Given the description of an element on the screen output the (x, y) to click on. 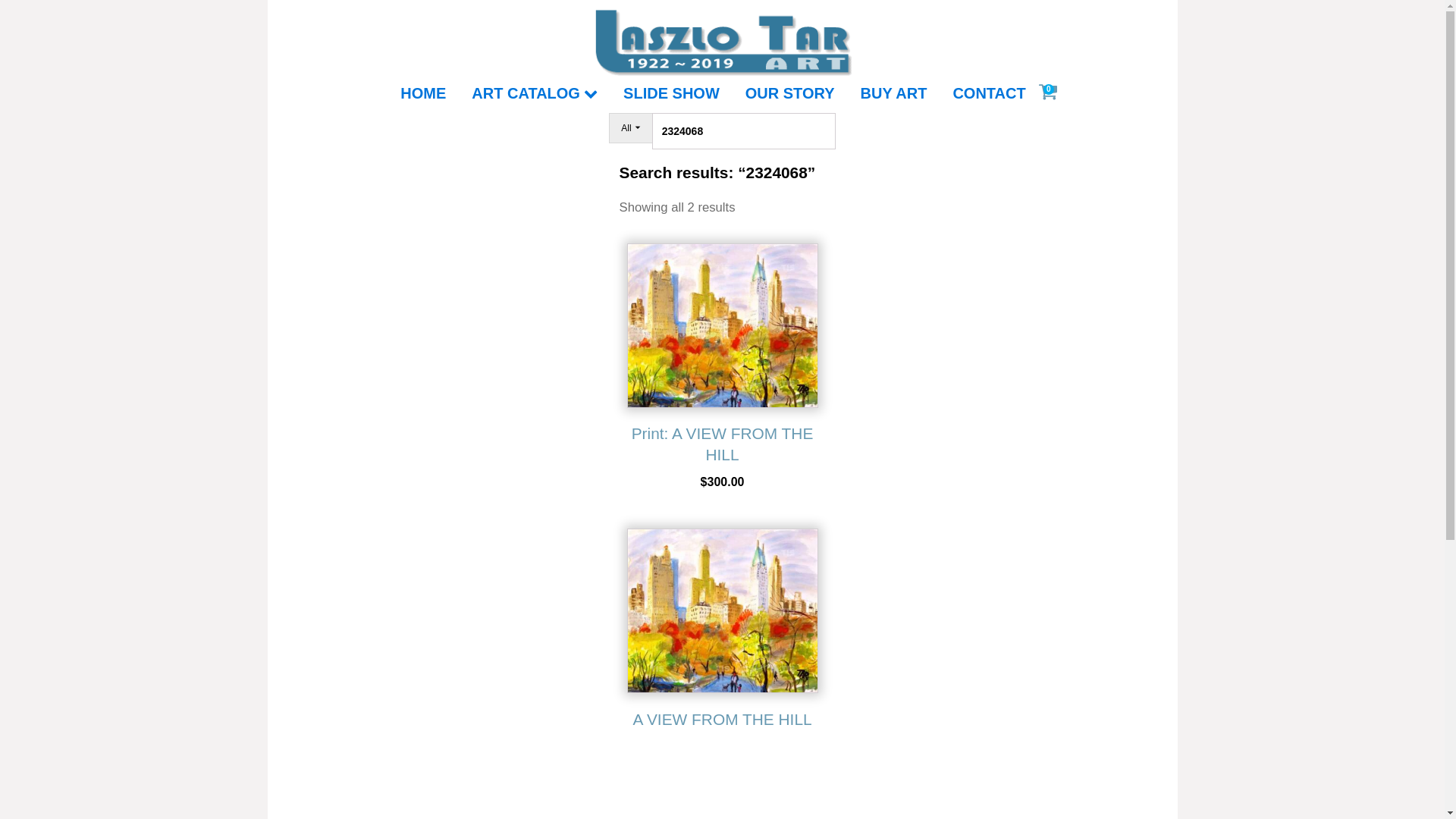
ART CATALOG (535, 93)
2324068 (743, 131)
OUR STORY (790, 93)
SLIDE SHOW (671, 93)
A VIEW FROM THE HILL (721, 632)
2324068 (743, 131)
HOME (422, 93)
